Given the description of an element on the screen output the (x, y) to click on. 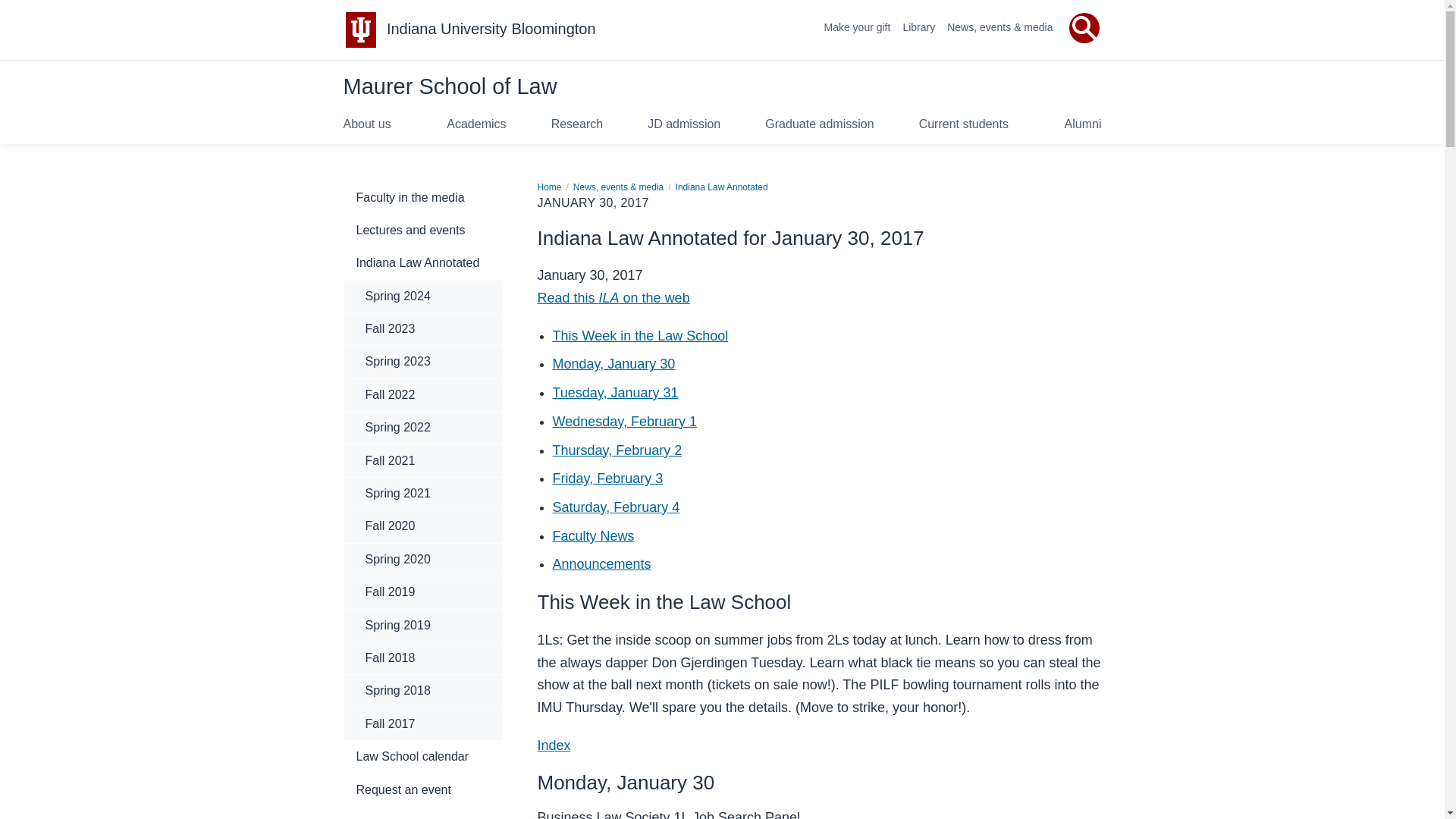
Indiana University Bloomington (491, 28)
Indiana University Bloomington (491, 28)
